Given the description of an element on the screen output the (x, y) to click on. 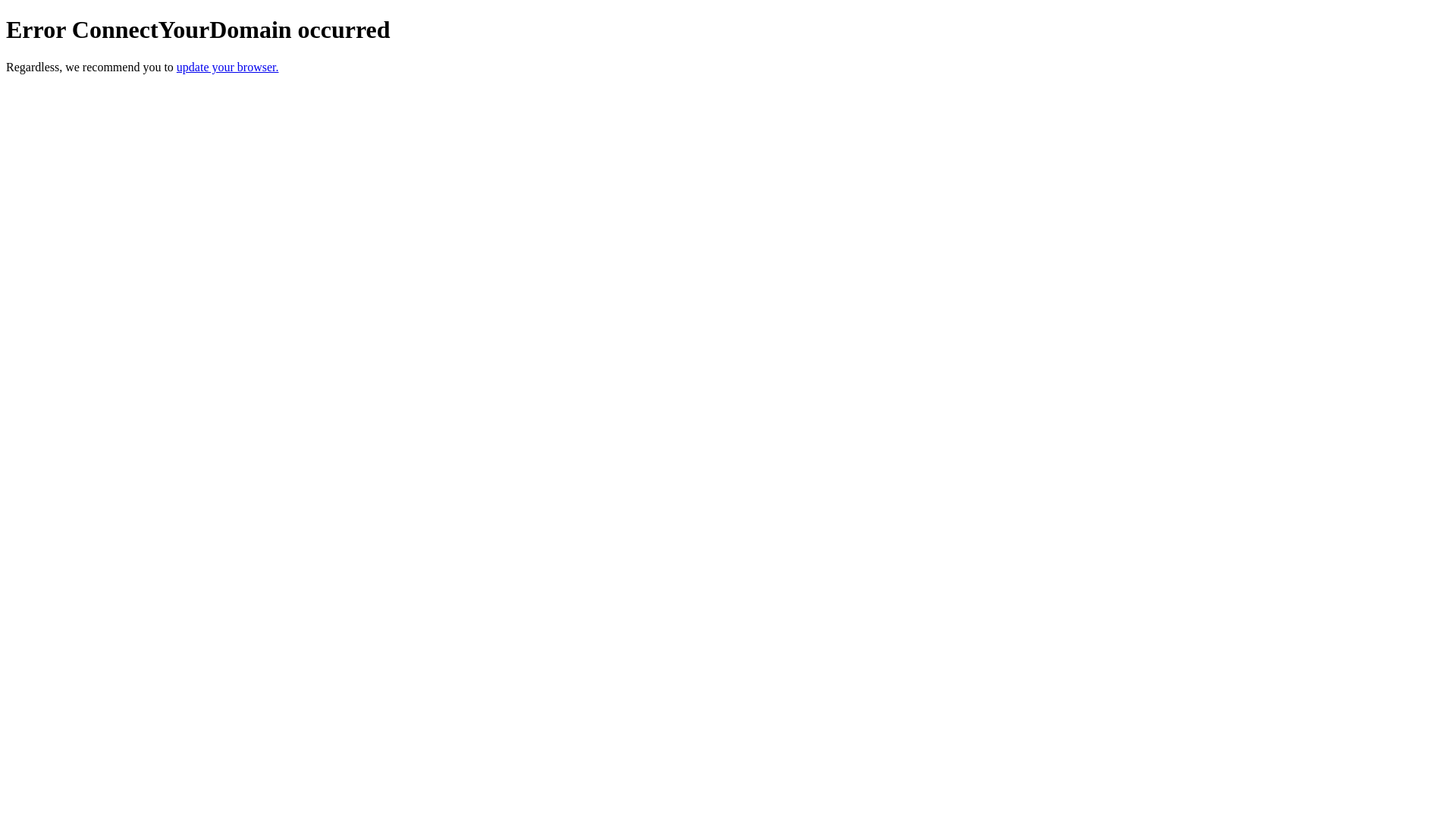
update your browser. Element type: text (227, 66)
